Given the description of an element on the screen output the (x, y) to click on. 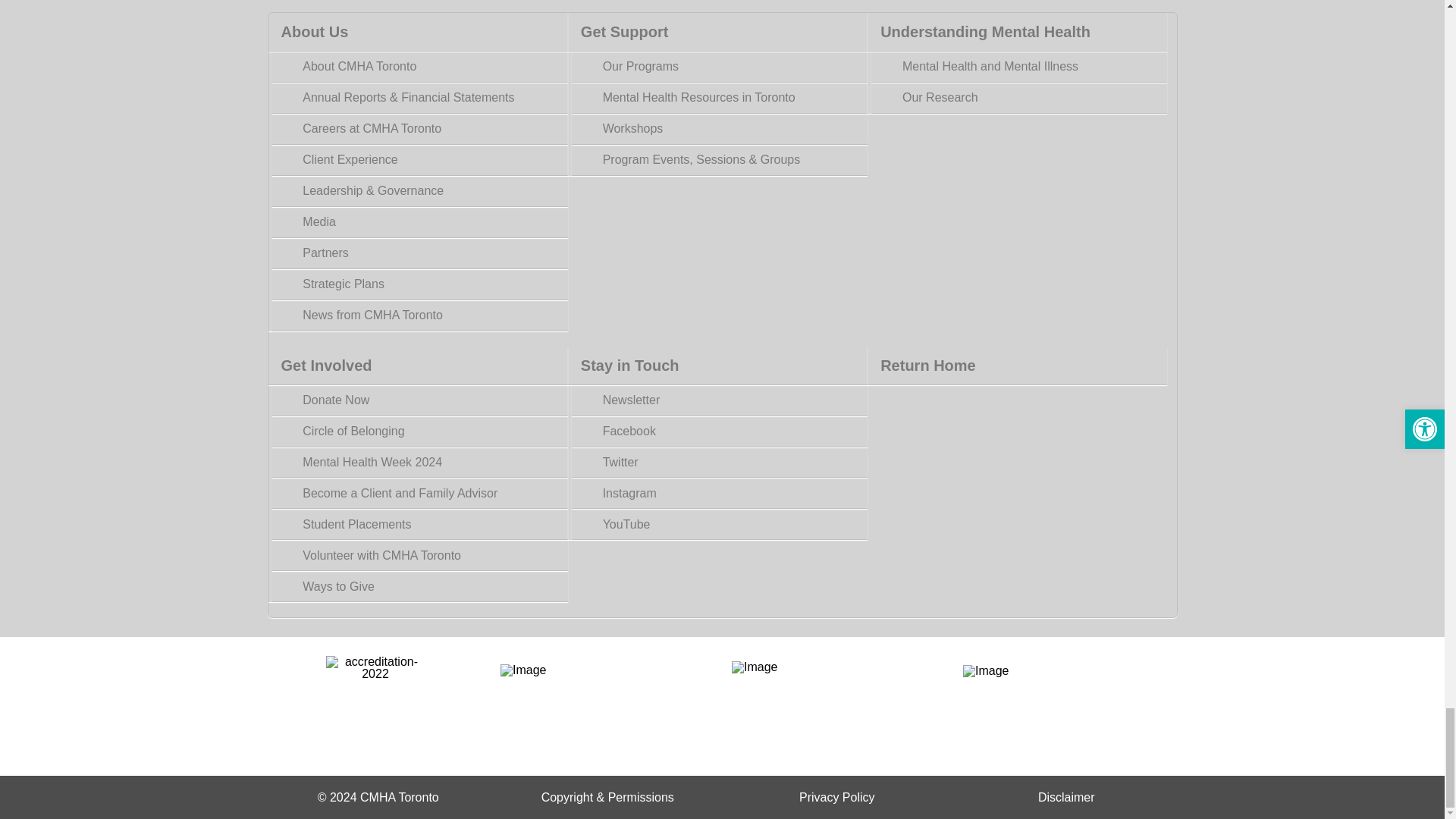
Copyright and Permissions (607, 797)
Disclaimer (1066, 797)
Privacy Policy (837, 797)
